Given the description of an element on the screen output the (x, y) to click on. 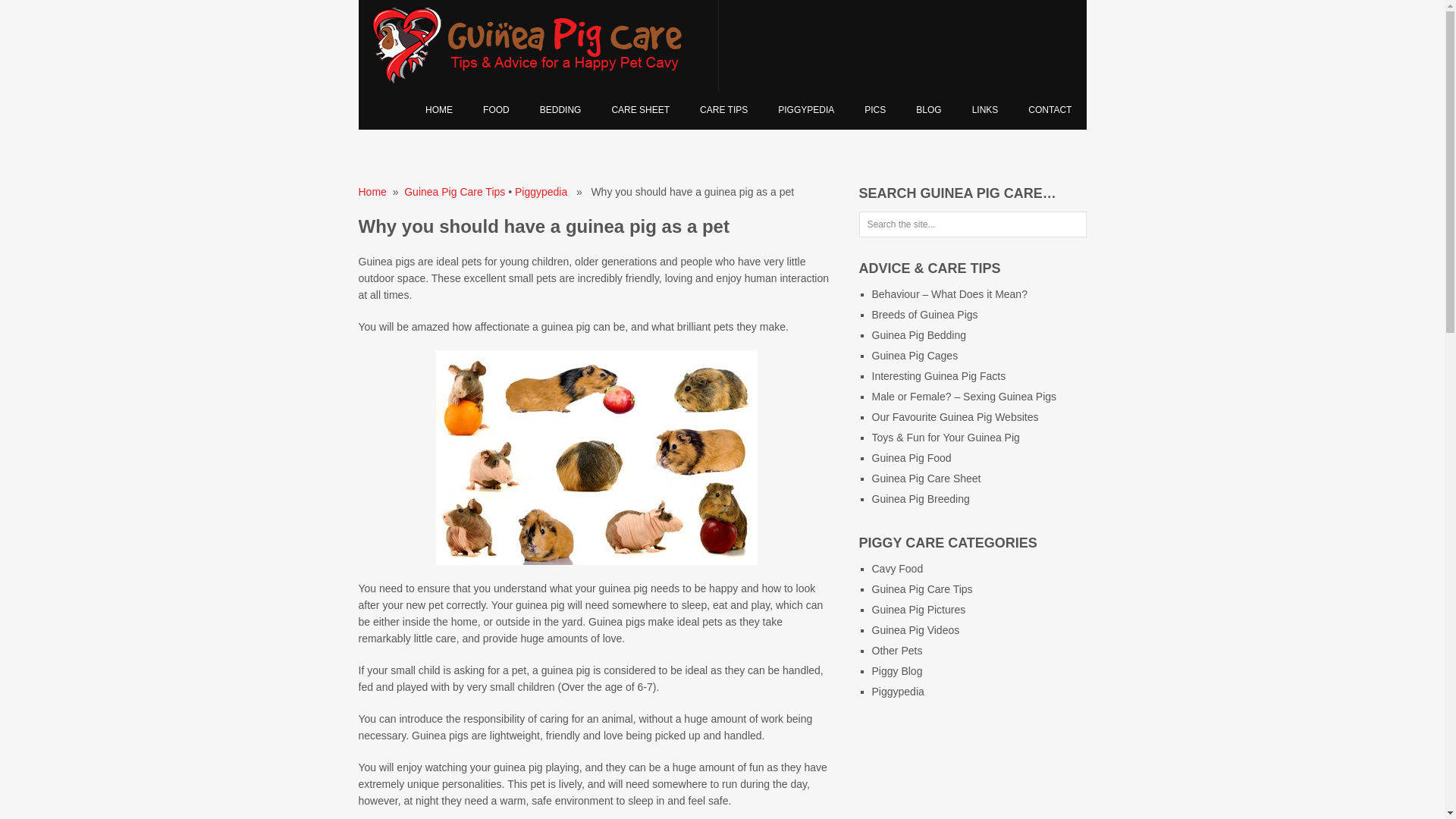
Facebook (874, 736)
Guinea Pig Breeding (920, 499)
Guinea Pig Bedding (560, 110)
Guinea Pig Care Sheet (639, 110)
CARE SHEET (639, 110)
Guinea Pig Bedding (919, 335)
Guinea Pig Blog (928, 110)
Piggypedia (898, 691)
Piggy Blog (897, 671)
Guinea Pig Care Tips (454, 191)
